Given the description of an element on the screen output the (x, y) to click on. 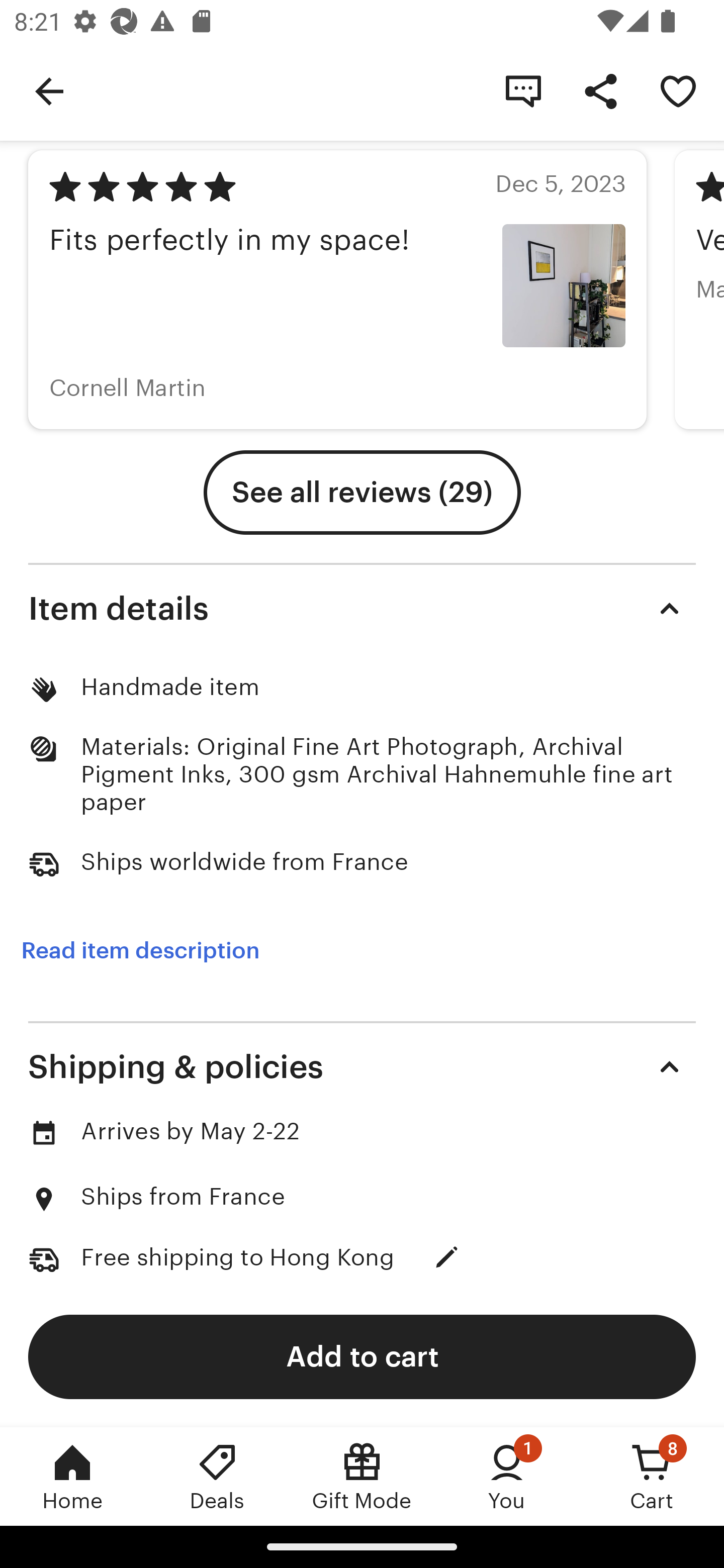
Navigate up (49, 90)
Contact shop (523, 90)
Share (600, 90)
See all reviews (29) (361, 492)
Item details (362, 607)
Read item description (140, 949)
Shipping & policies (362, 1066)
Update (446, 1257)
Add to cart (361, 1355)
Deals (216, 1475)
Gift Mode (361, 1475)
You, 1 new notification You (506, 1475)
Cart, 8 new notifications Cart (651, 1475)
